Given the description of an element on the screen output the (x, y) to click on. 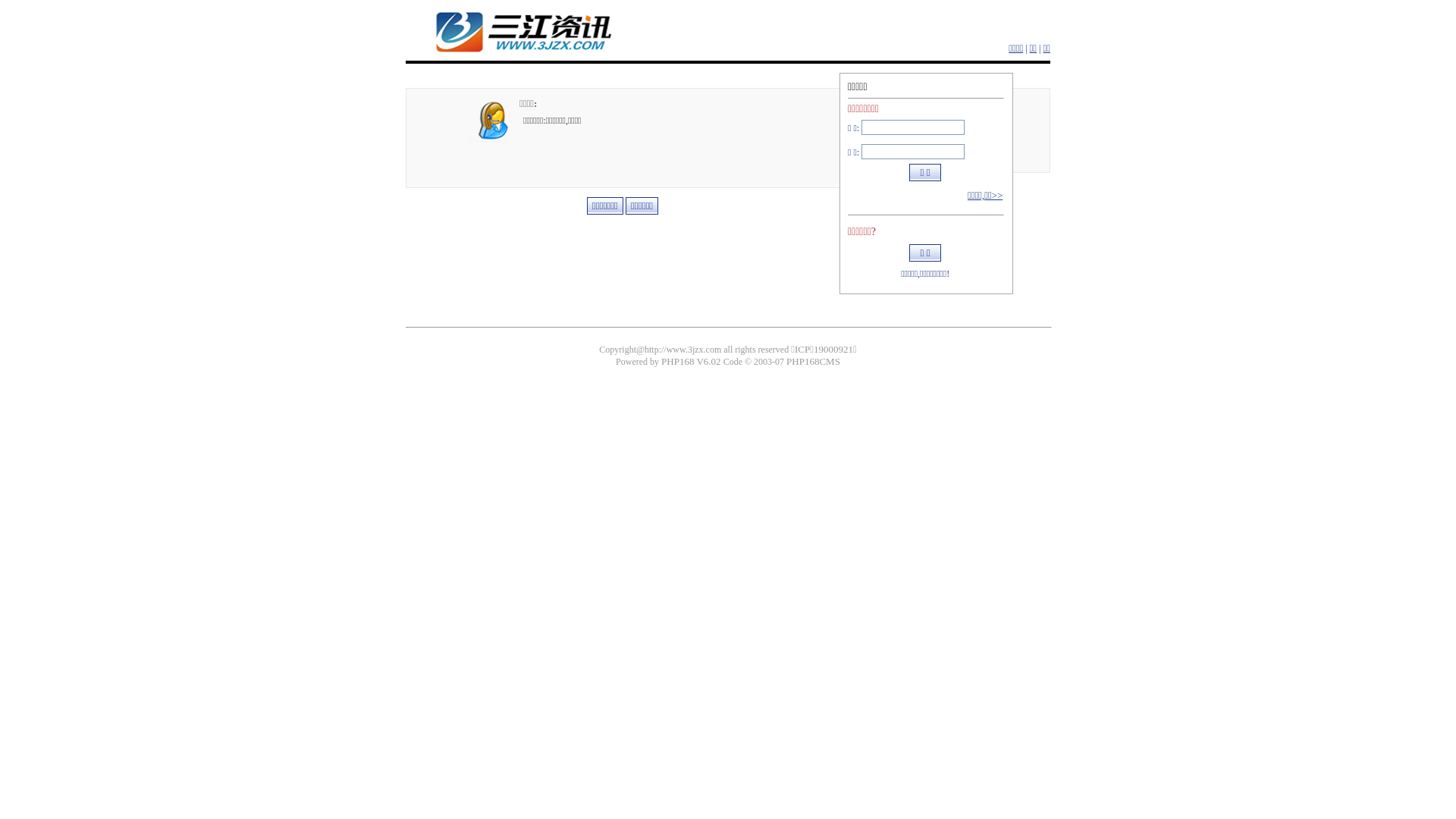
PHP168CMS Element type: text (813, 361)
PHP168 V6.02 Element type: text (691, 361)
